Given the description of an element on the screen output the (x, y) to click on. 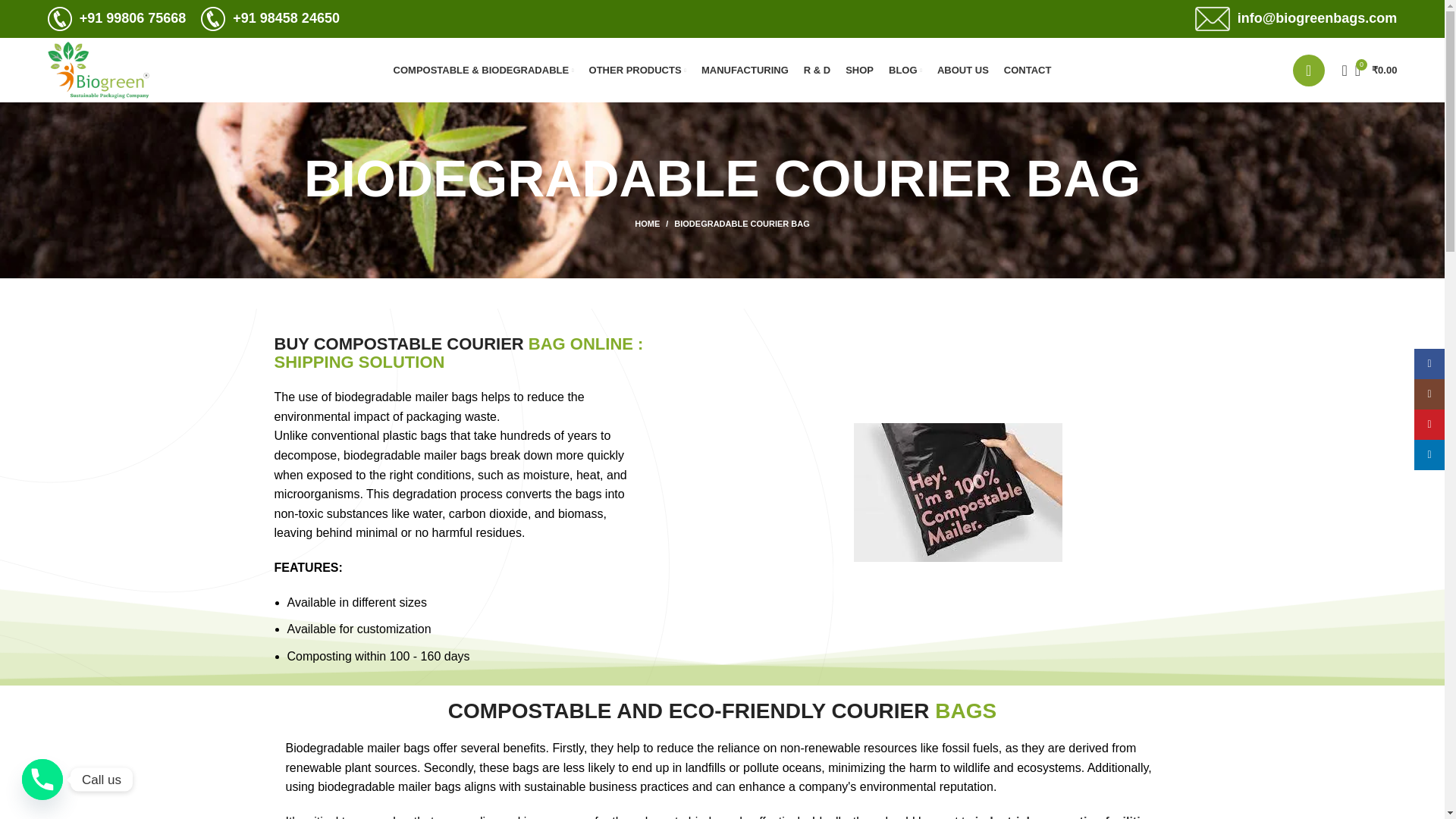
OTHER PRODUCTS (637, 69)
Shopping cart (1376, 69)
My account (1308, 69)
